Given the description of an element on the screen output the (x, y) to click on. 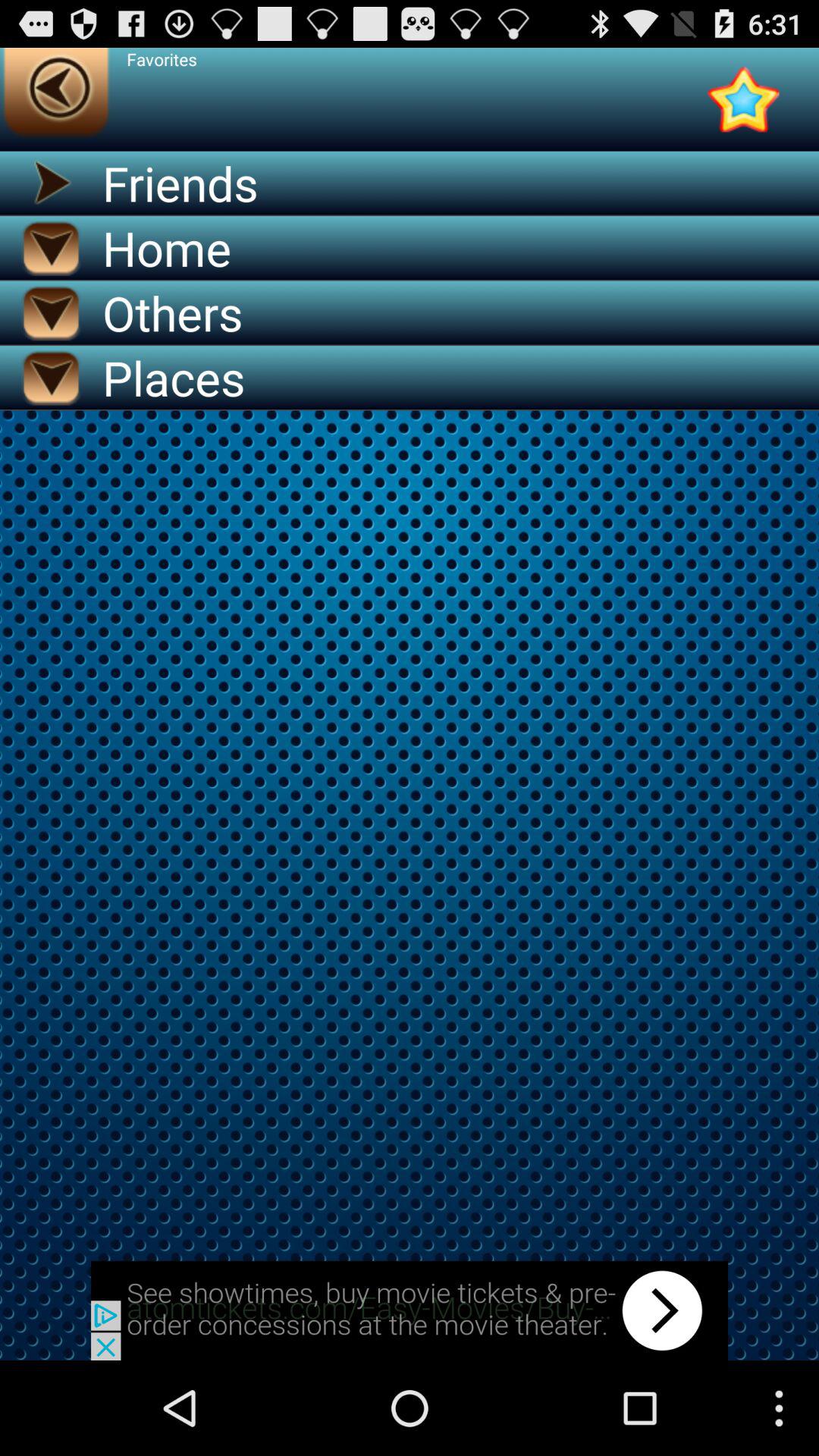
back (409, 1310)
